Given the description of an element on the screen output the (x, y) to click on. 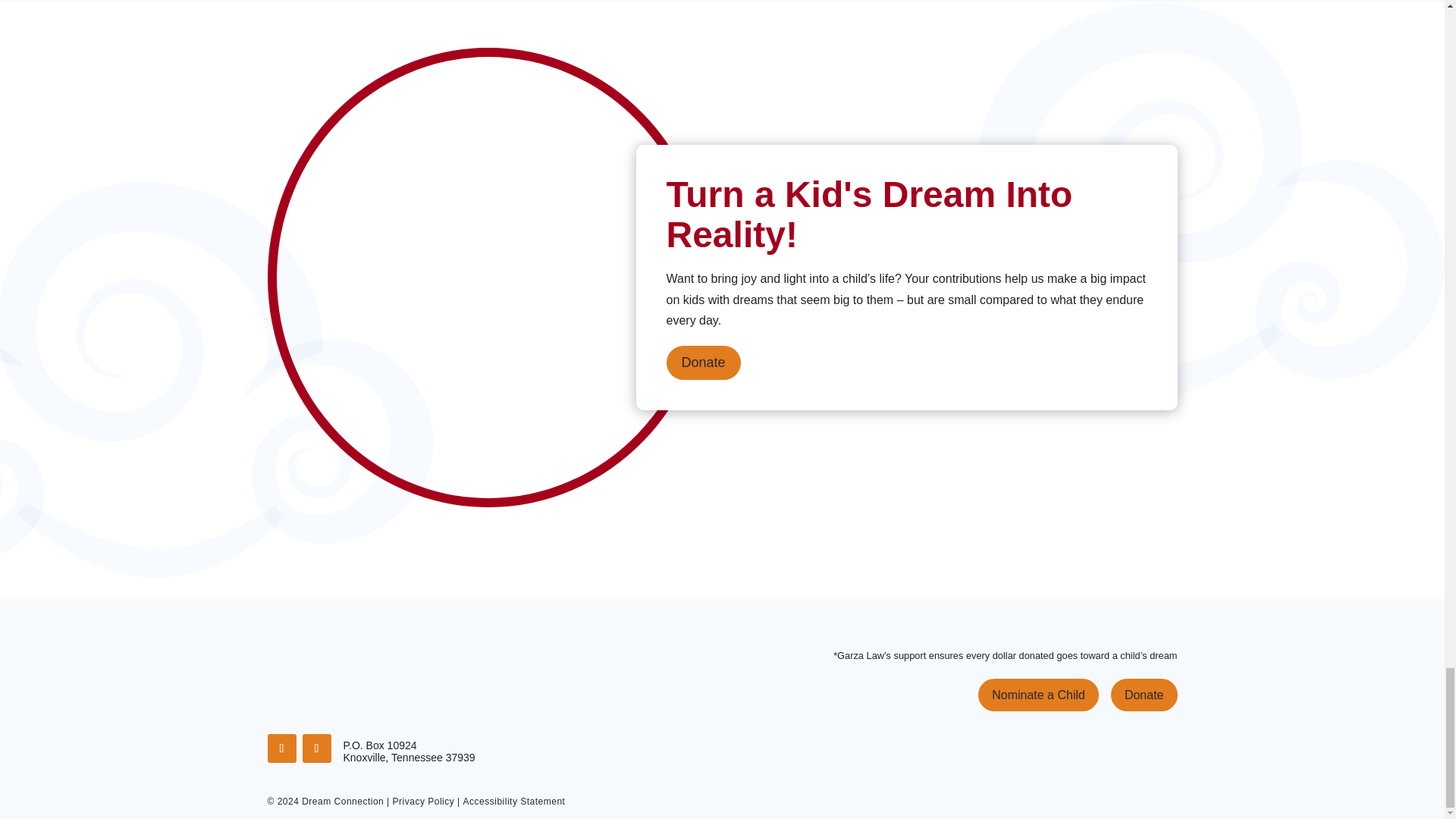
Follow on Instagram (315, 747)
dcon-logo (353, 677)
Follow on Facebook (280, 747)
